Given the description of an element on the screen output the (x, y) to click on. 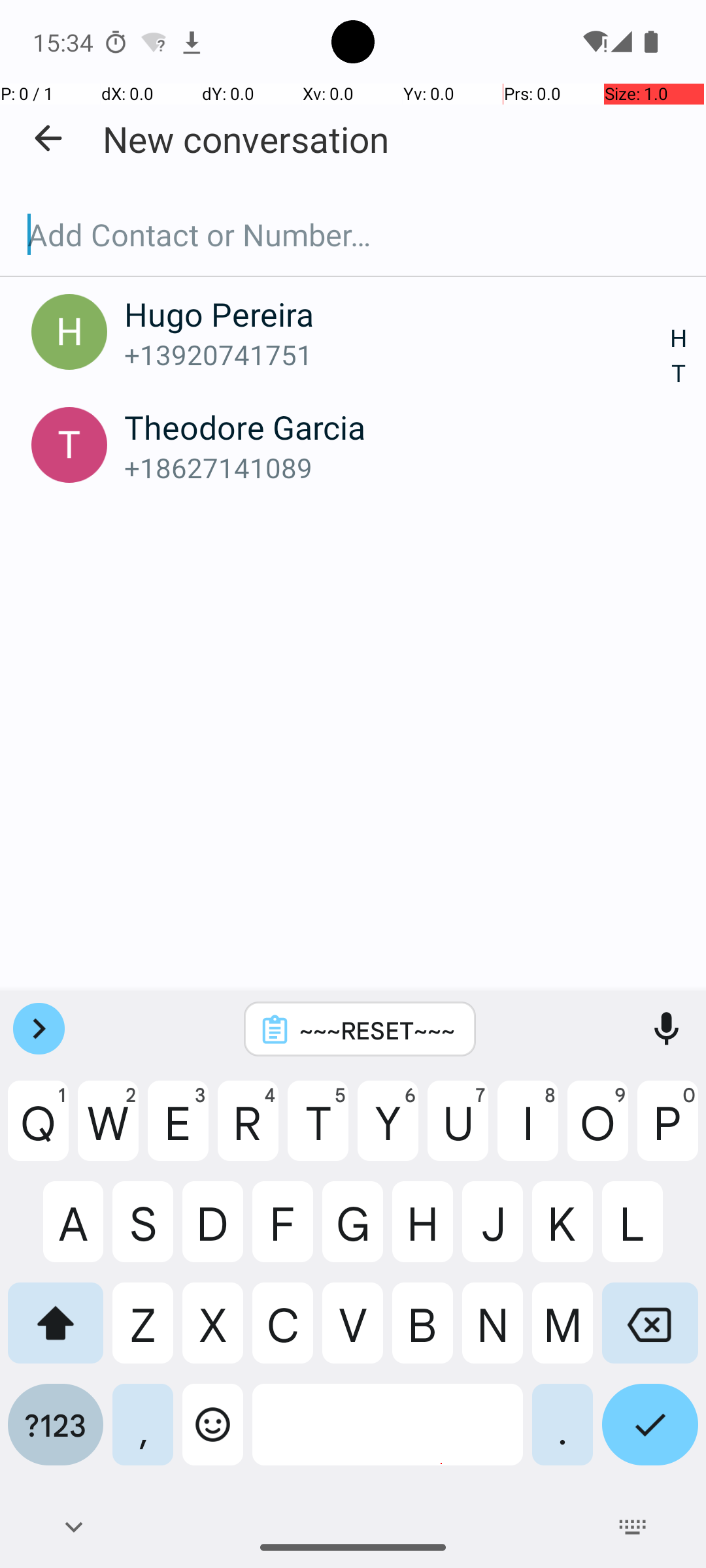
H
T Element type: android.widget.TextView (678, 356)
+13920741751 Element type: android.widget.TextView (397, 354)
Theodore Garcia Element type: android.widget.TextView (397, 426)
+18627141089 Element type: android.widget.TextView (397, 467)
